Given the description of an element on the screen output the (x, y) to click on. 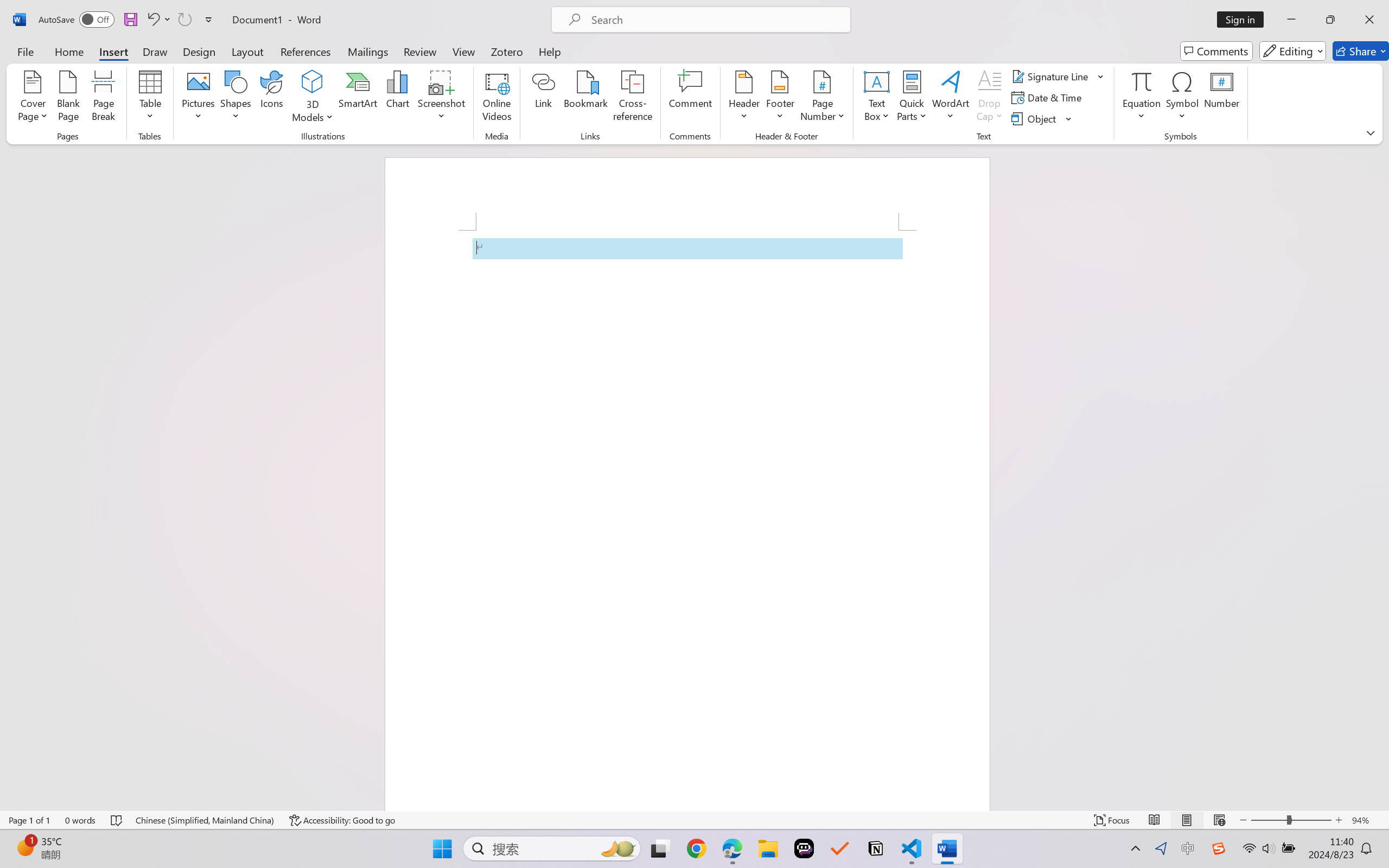
Icons (271, 97)
Object... (1042, 118)
Signature Line (1051, 75)
Blank Page (67, 97)
Bookmark... (585, 97)
Table (149, 97)
